Given the description of an element on the screen output the (x, y) to click on. 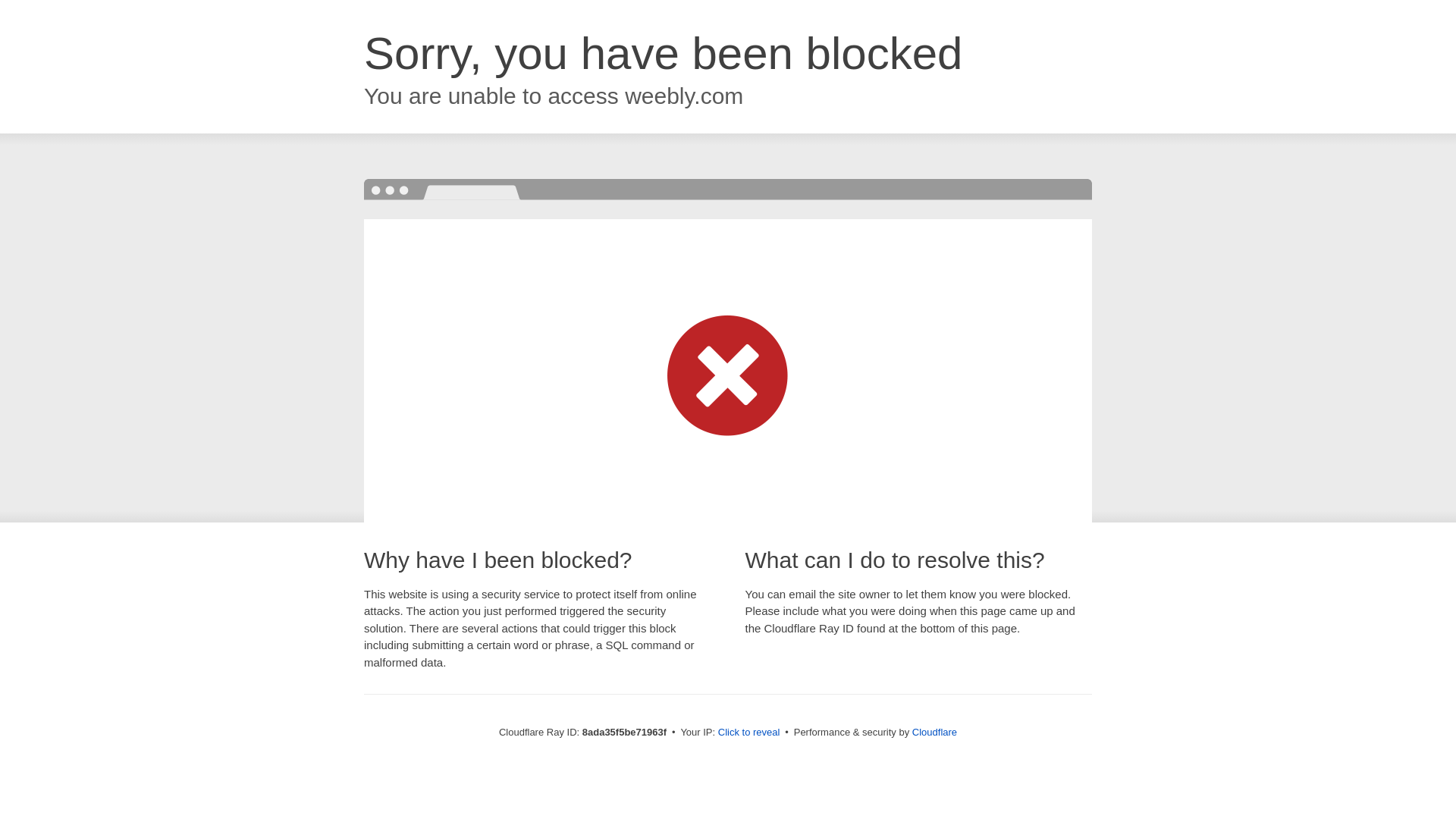
Cloudflare (934, 731)
Click to reveal (748, 732)
